Given the description of an element on the screen output the (x, y) to click on. 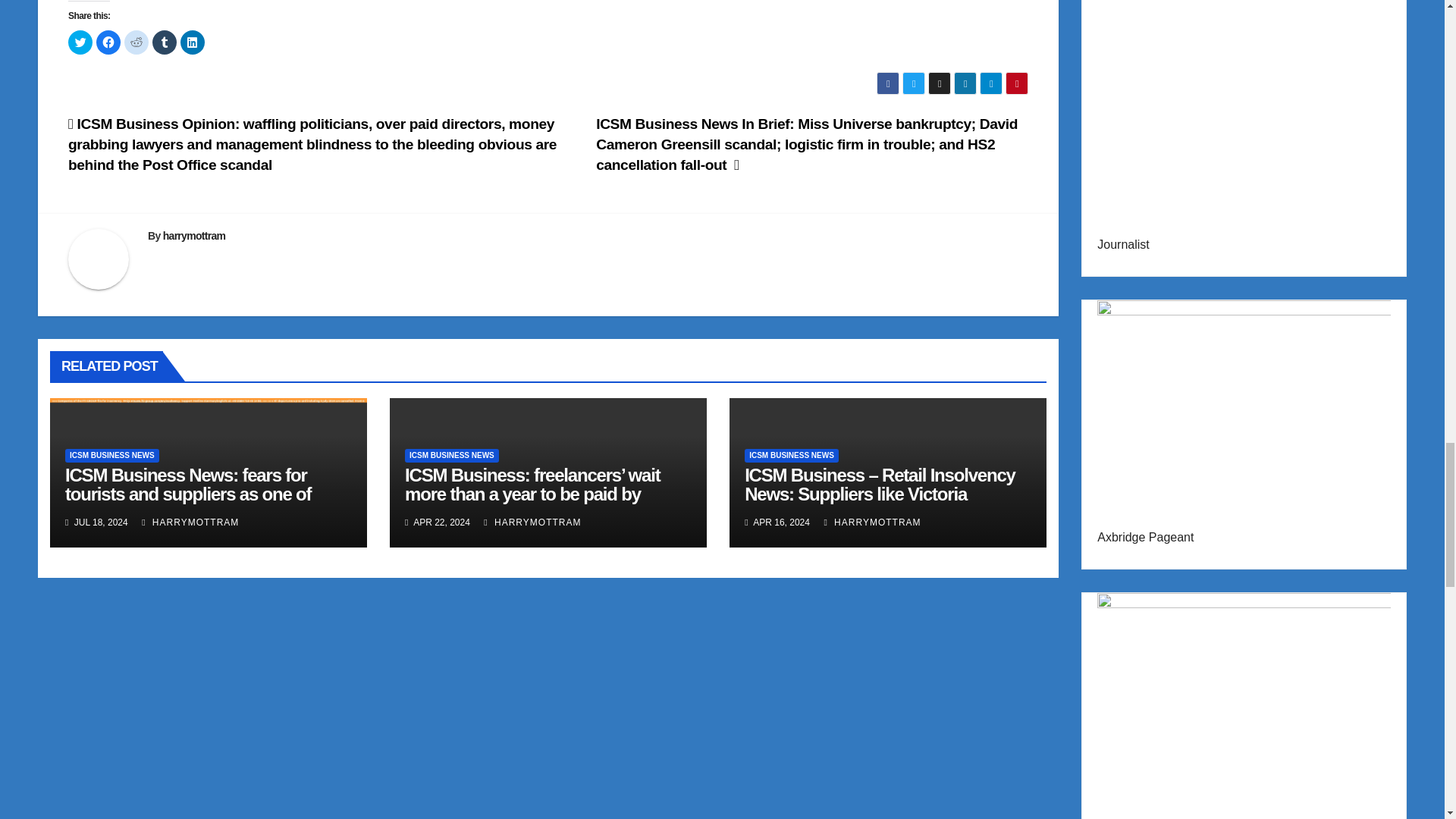
Click to share on LinkedIn (192, 42)
Click to share on Reddit (135, 42)
Click to share on Tumblr (164, 42)
Click to share on Twitter (80, 42)
Click to share on Facebook (108, 42)
